Given the description of an element on the screen output the (x, y) to click on. 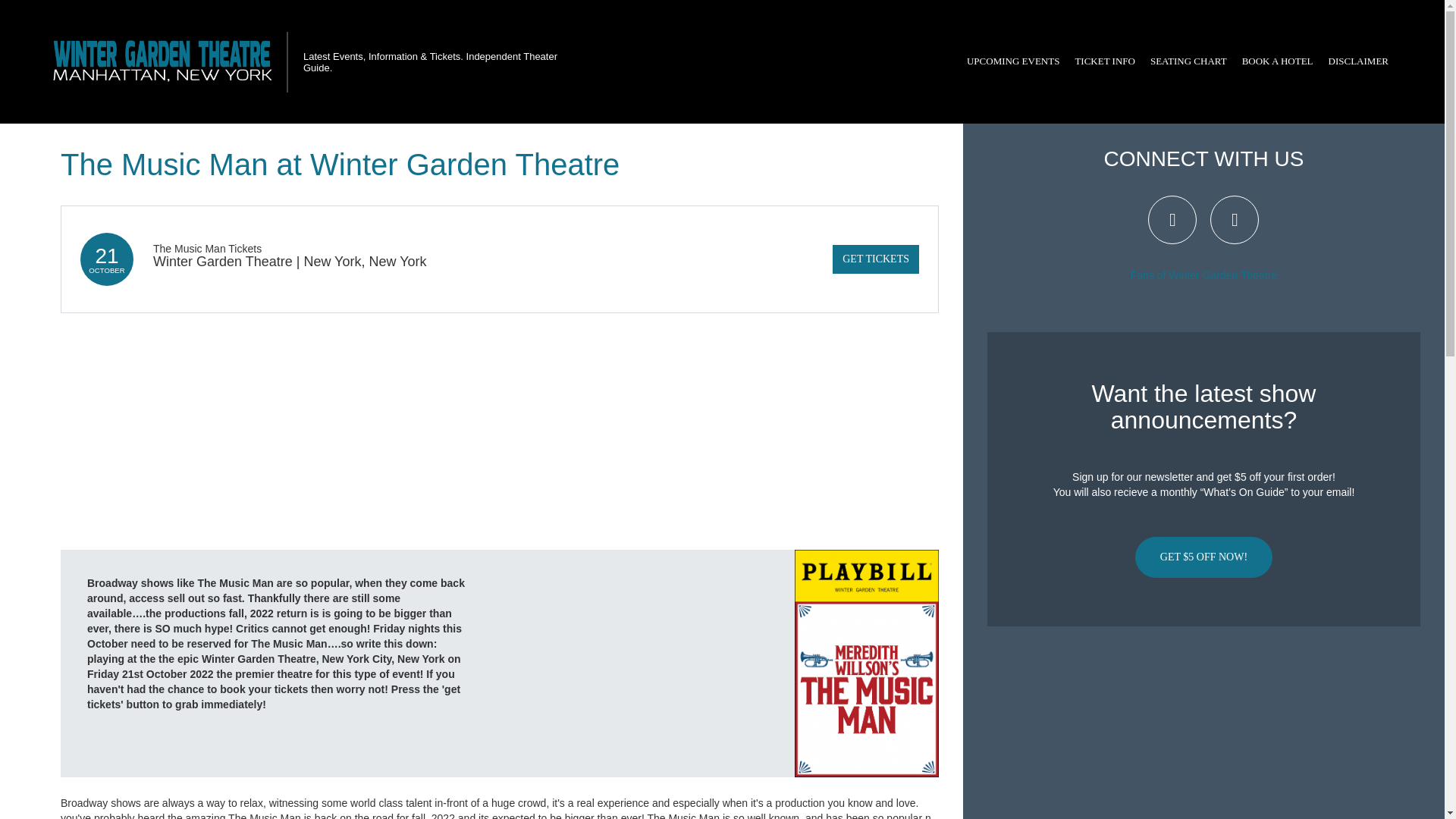
UPCOMING EVENTS (1013, 61)
GET TICKETS (875, 258)
BOOK A HOTEL (1277, 61)
The Music Man Tickets (207, 248)
Fans of Winter Garden Theatre (1204, 275)
SEATING CHART (1188, 61)
Advertisement (1204, 728)
TICKET INFO (1104, 61)
DISCLAIMER (1358, 61)
